Given the description of an element on the screen output the (x, y) to click on. 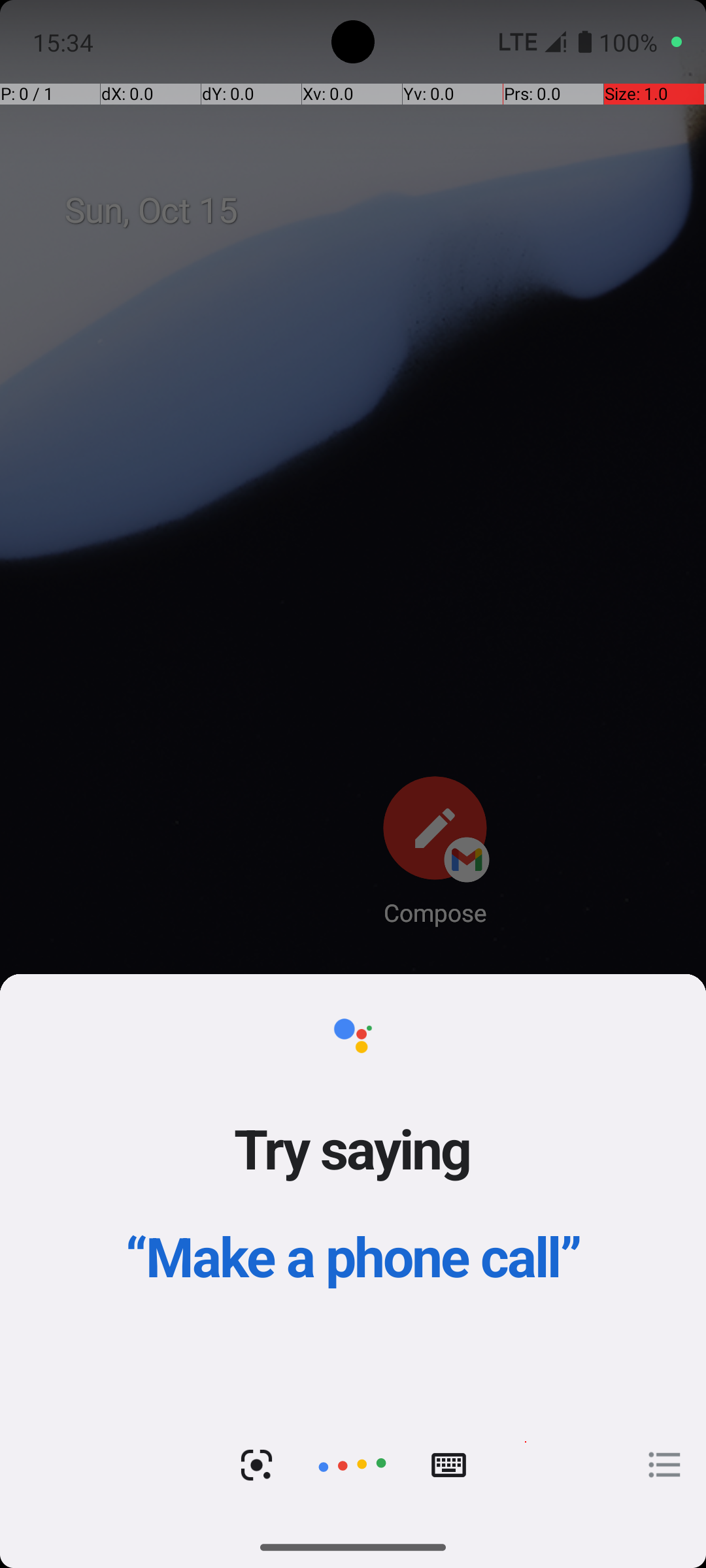
Tap to dismiss Assistant Element type: android.view.ViewGroup (353, 804)
Google Assistant widget. Element type: android.support.v7.widget.RecyclerView (353, 1250)
Google Assistant greeting container. Element type: android.widget.LinearLayout (353, 1188)
Tap to cancel Element type: android.view.View (351, 1465)
Type mode Element type: android.widget.ImageView (448, 1465)
Google Assistant greeting. Element type: android.widget.FrameLayout (353, 1250)
Open explore page Element type: android.widget.ImageView (664, 1464)
Try saying Element type: android.widget.TextView (352, 1147)
“Make a phone call” Element type: android.widget.TextView (352, 1255)
